Given the description of an element on the screen output the (x, y) to click on. 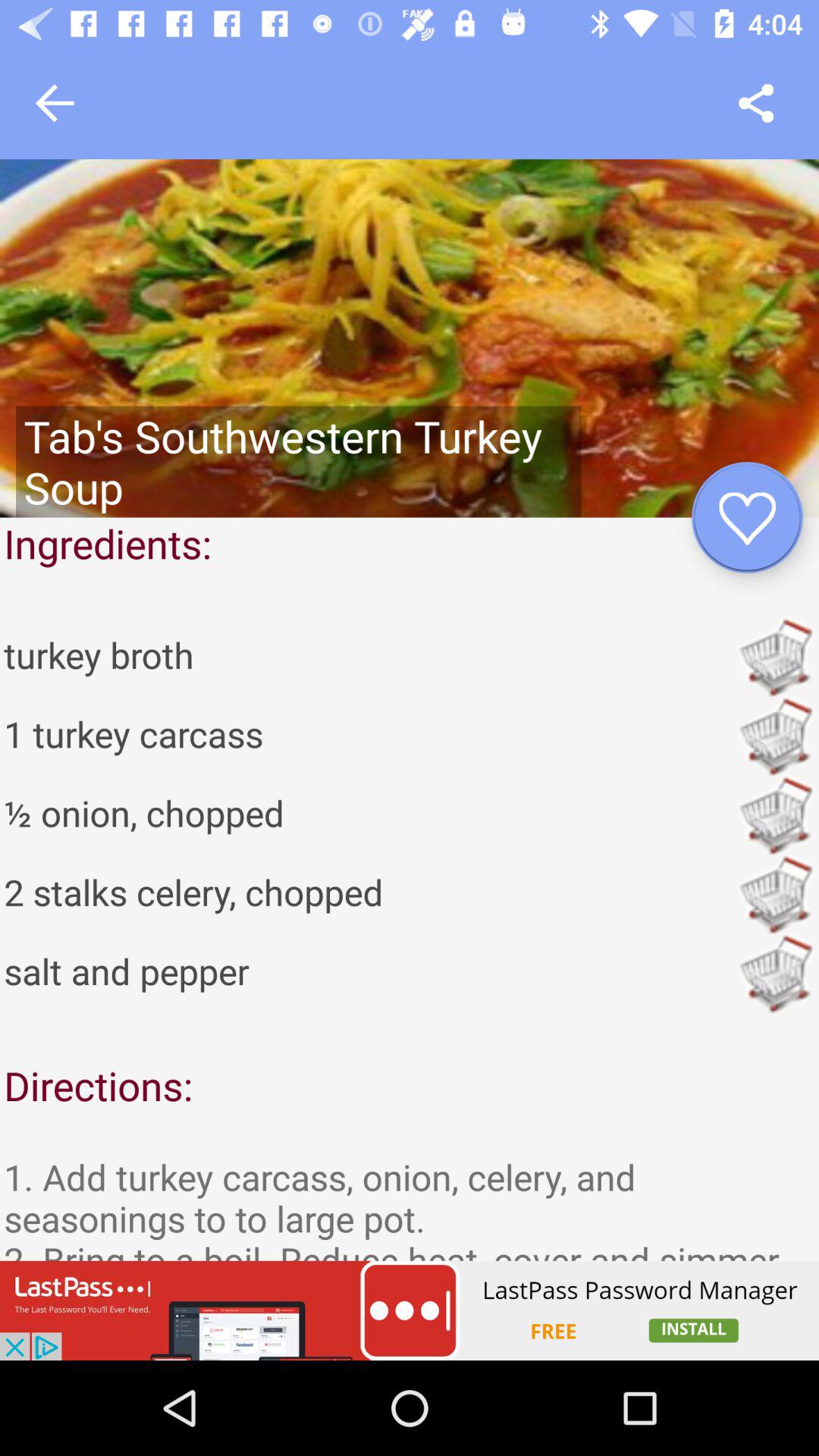
add to favorite (747, 517)
